Given the description of an element on the screen output the (x, y) to click on. 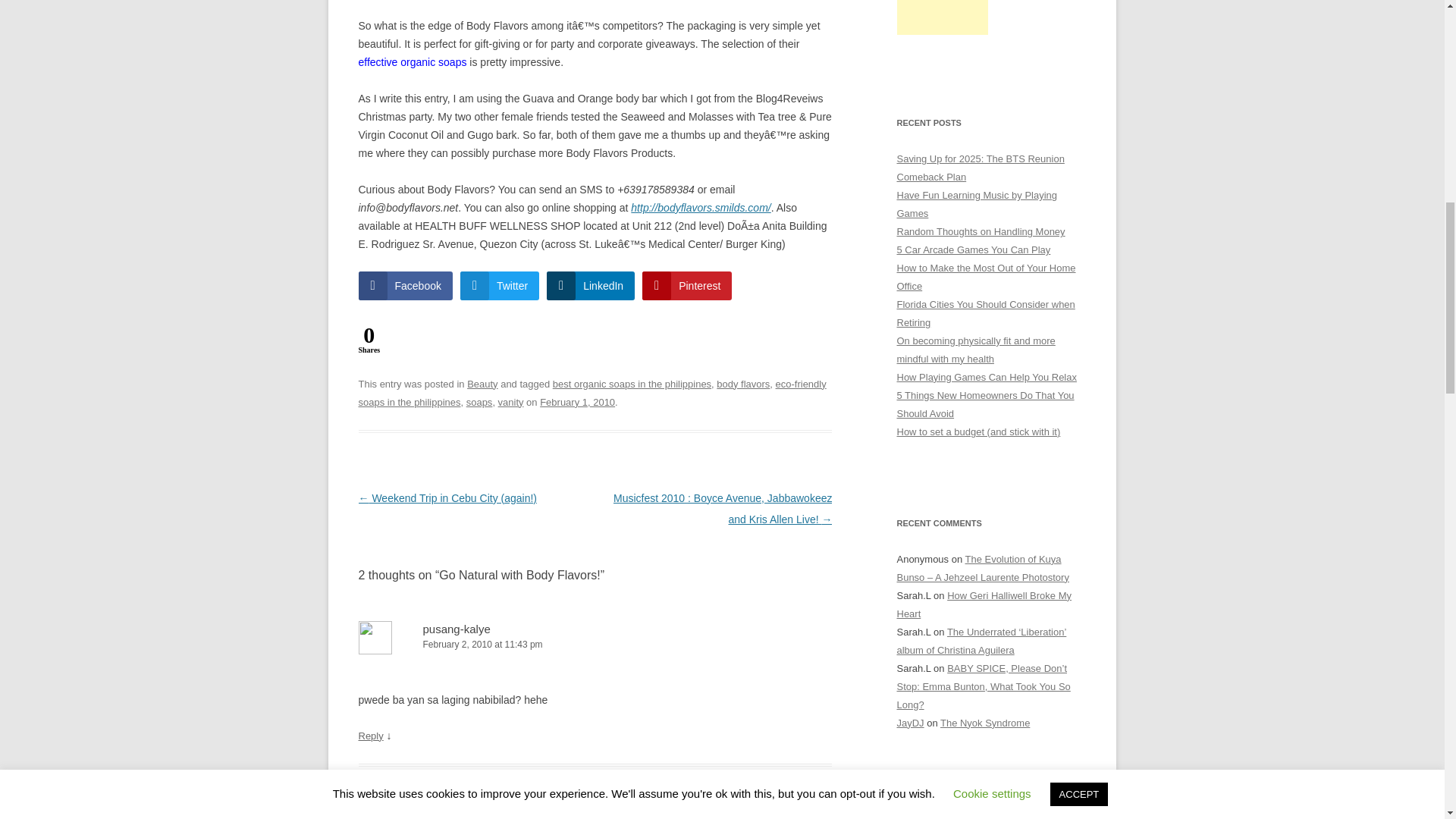
soaps (479, 401)
Reply (370, 736)
Pinterest (687, 285)
12:52 am (577, 401)
Ichiro Ino (446, 810)
Have Fun Learning Music by Playing Games (976, 204)
body flavors (743, 383)
February 2, 2010 at 11:43 pm (594, 644)
eco-friendly soaps in the philippines (591, 392)
February 1, 2010 (577, 401)
